Given the description of an element on the screen output the (x, y) to click on. 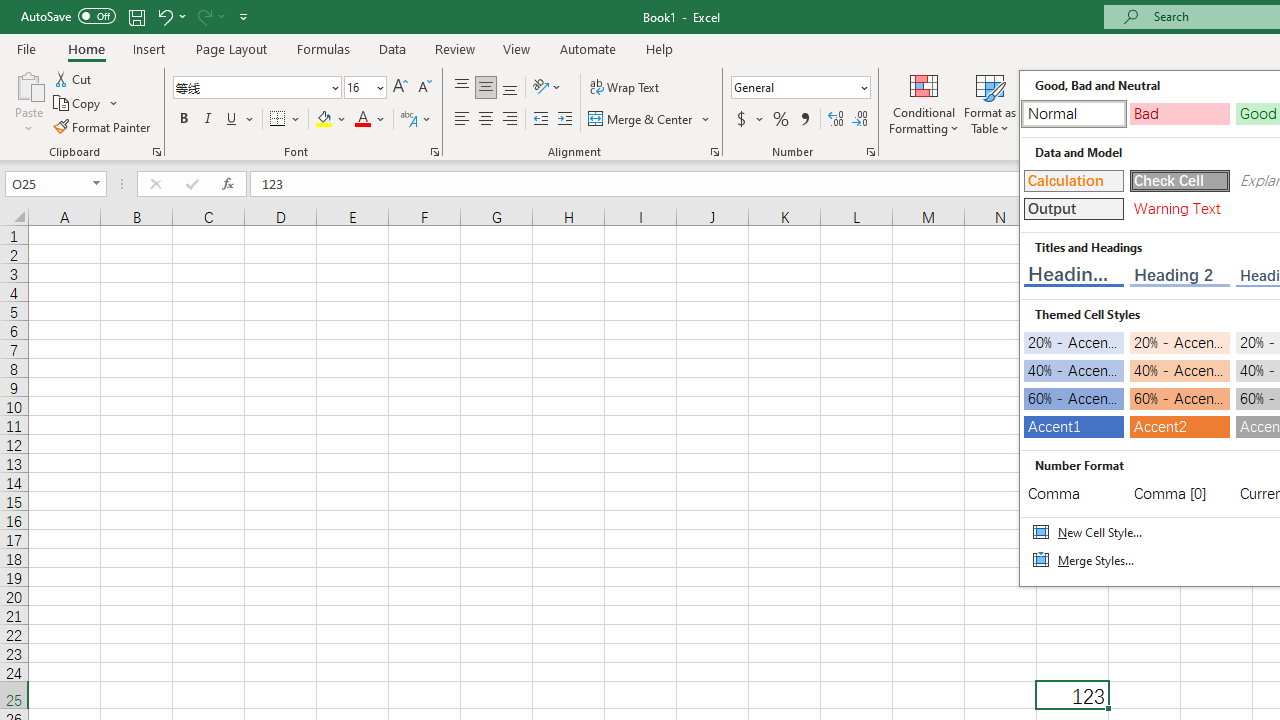
Font Size (365, 87)
Bottom Border (278, 119)
Show Phonetic Field (416, 119)
Merge & Center (649, 119)
Office Clipboard... (156, 151)
Paste (28, 84)
Decrease Font Size (424, 87)
Bottom Align (509, 87)
Format Cell Number (870, 151)
